Given the description of an element on the screen output the (x, y) to click on. 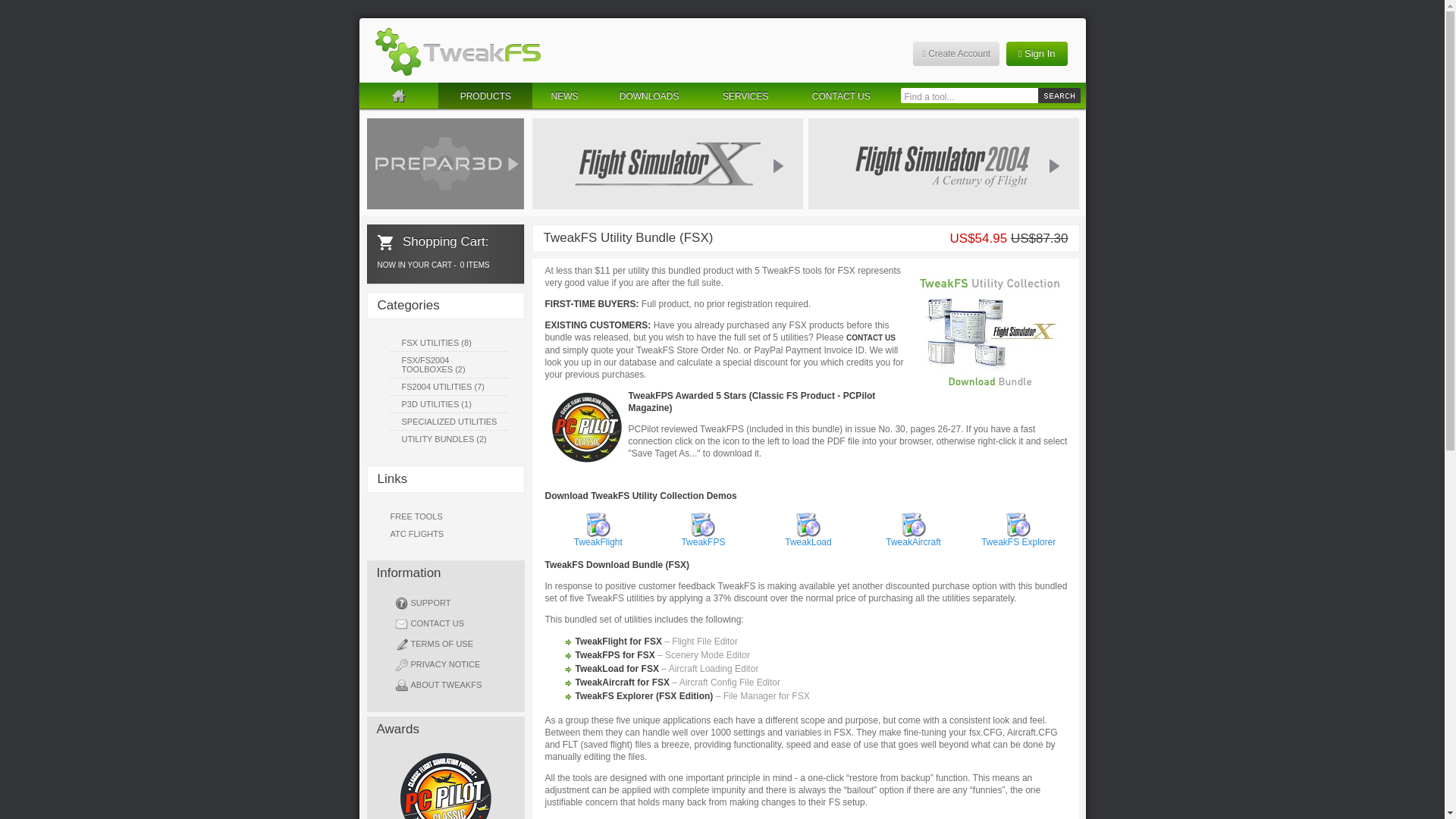
 FS2004 Tools  (943, 163)
TweakLoad (807, 537)
Find a tool... (969, 96)
TweakFPS (703, 537)
TERMS OF USE (449, 643)
CONTACT US (870, 337)
TweakFlight (598, 537)
PRIVACY NOTICE (449, 664)
  Shopping Cart: (433, 241)
TweakLoad for FSX (616, 668)
